Given the description of an element on the screen output the (x, y) to click on. 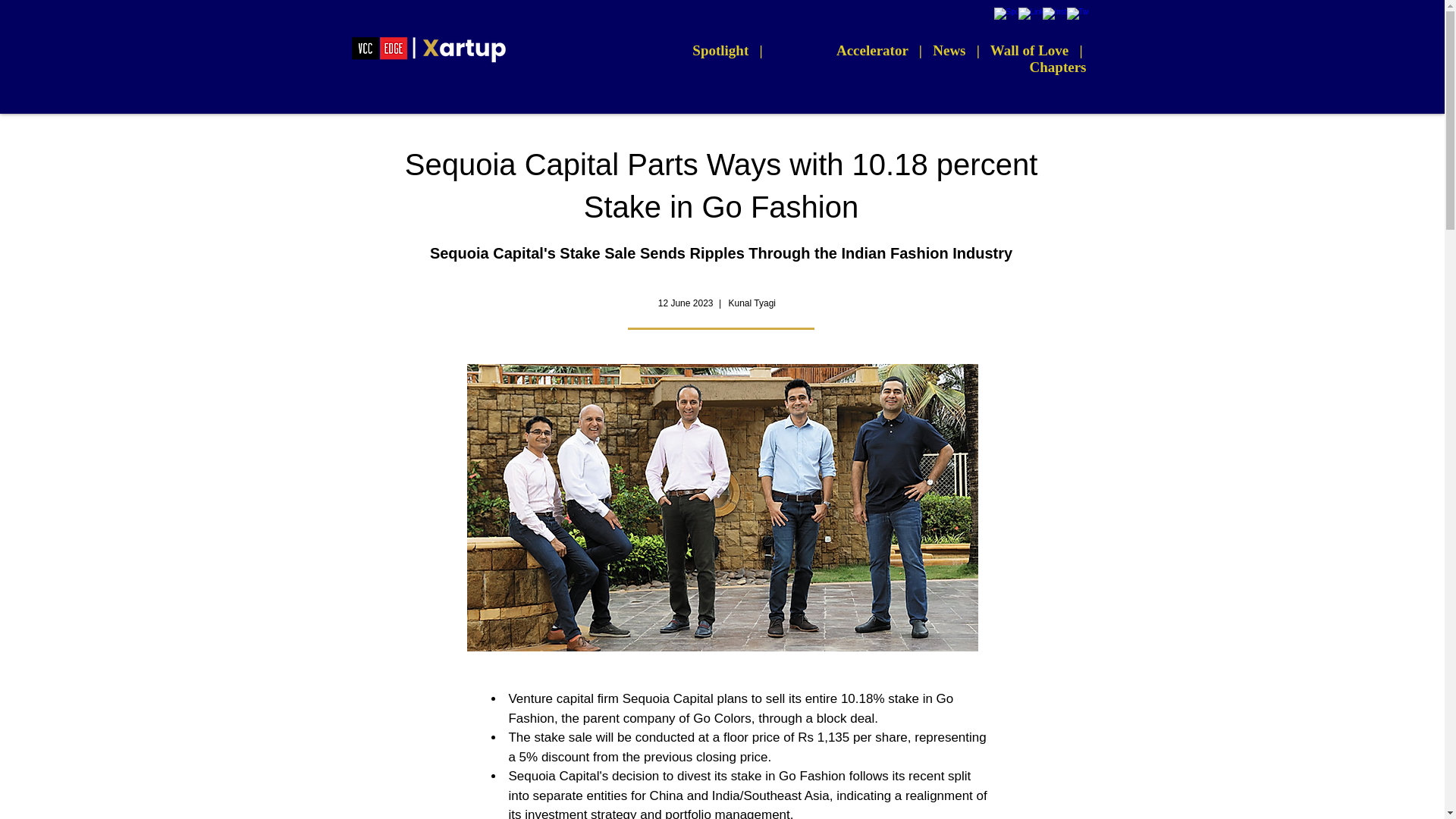
News (949, 50)
Chapters (1057, 66)
Wall of Love (1029, 50)
Accelerator (871, 50)
